Given the description of an element on the screen output the (x, y) to click on. 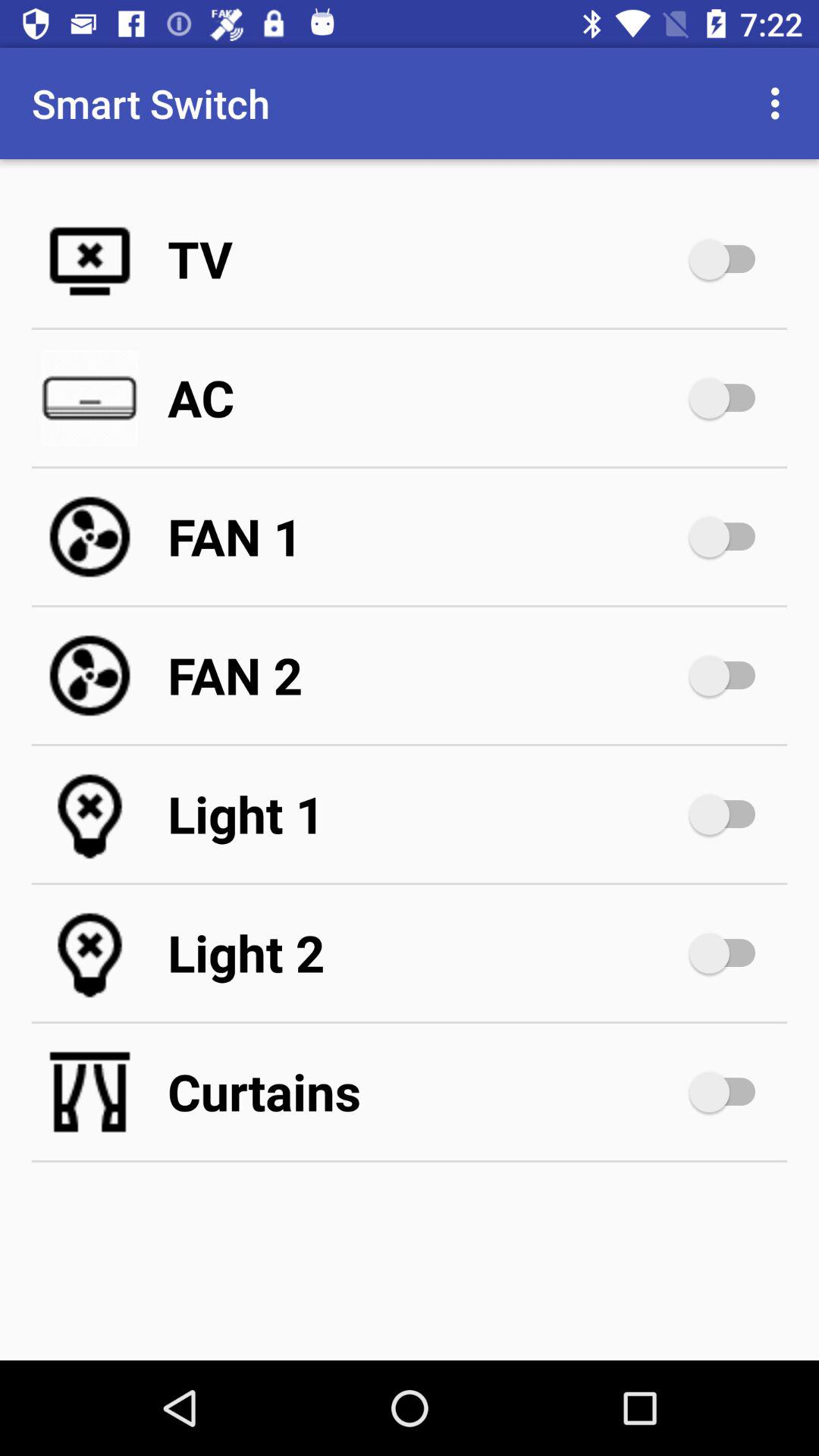
choose light 1 (424, 814)
